Given the description of an element on the screen output the (x, y) to click on. 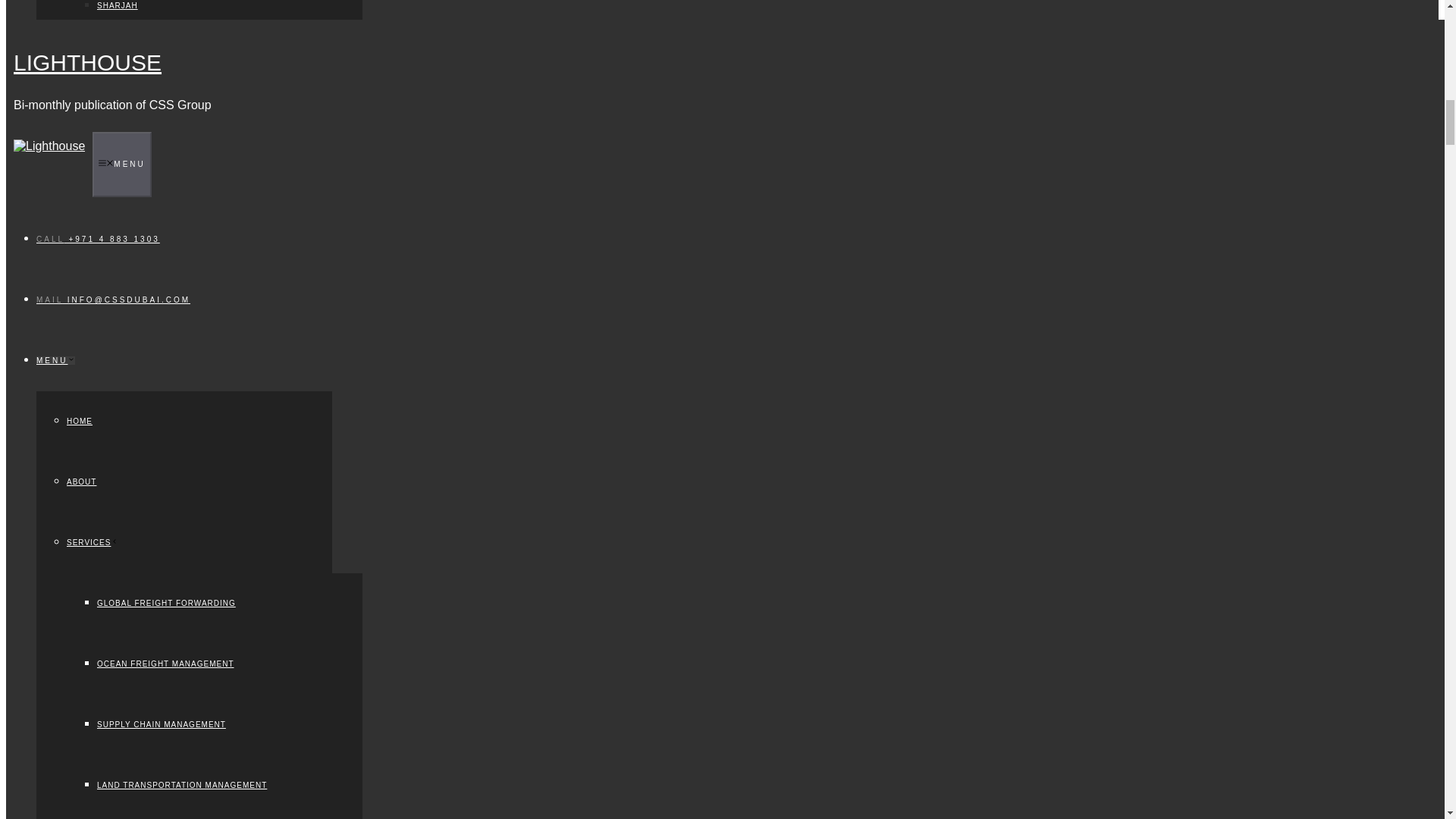
ABU DHABI (120, 57)
OMAN (109, 299)
SRI LANKA (119, 542)
CAREERS (86, 602)
SAUDI ARABIA (127, 420)
BAHRAIN (116, 239)
QATAR (111, 360)
RAS AL KHAIMAH (133, 178)
INDIA (108, 481)
